Given the description of an element on the screen output the (x, y) to click on. 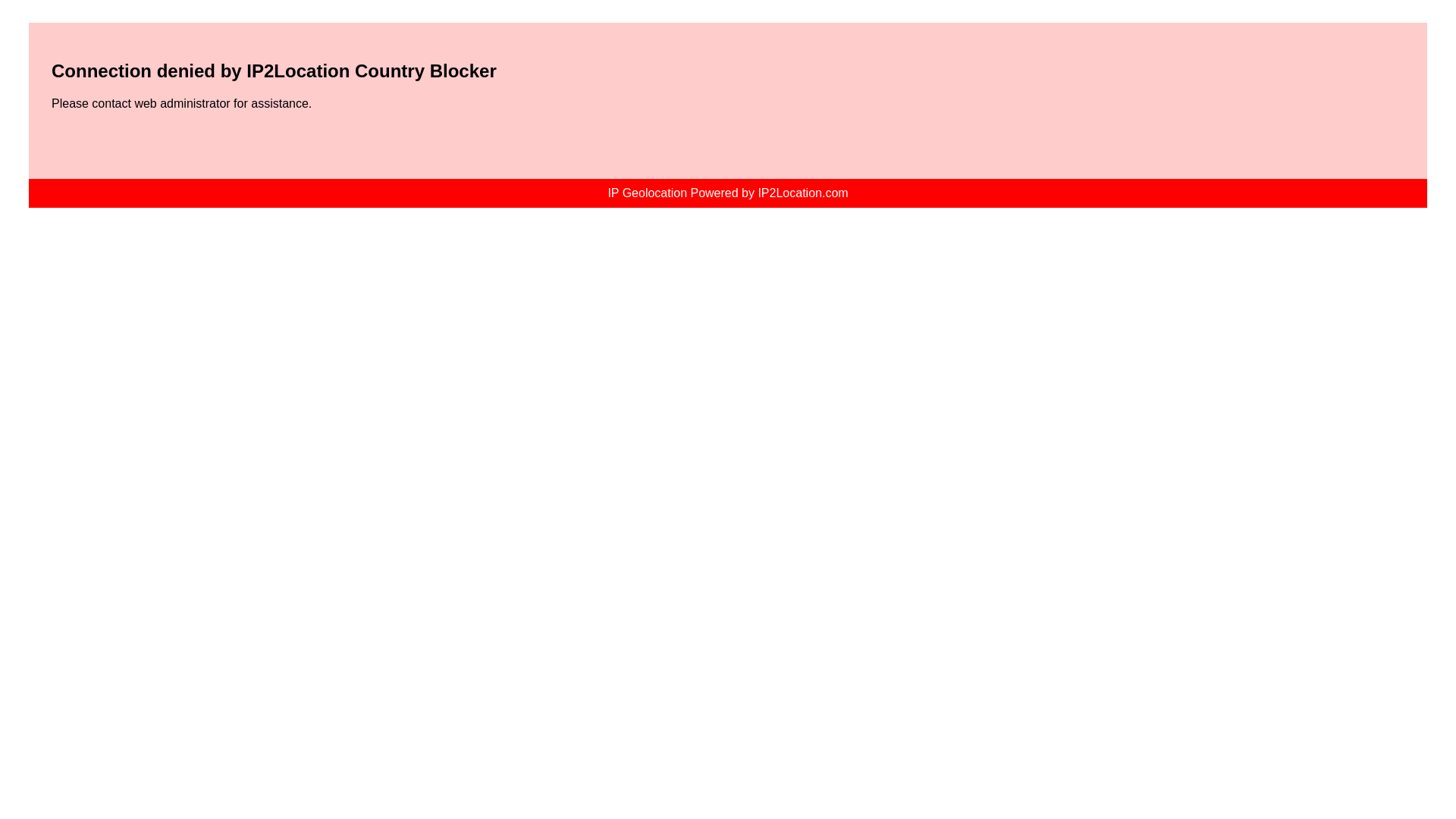
IP Geolocation Powered by IP2Location.com Element type: text (727, 192)
